Given the description of an element on the screen output the (x, y) to click on. 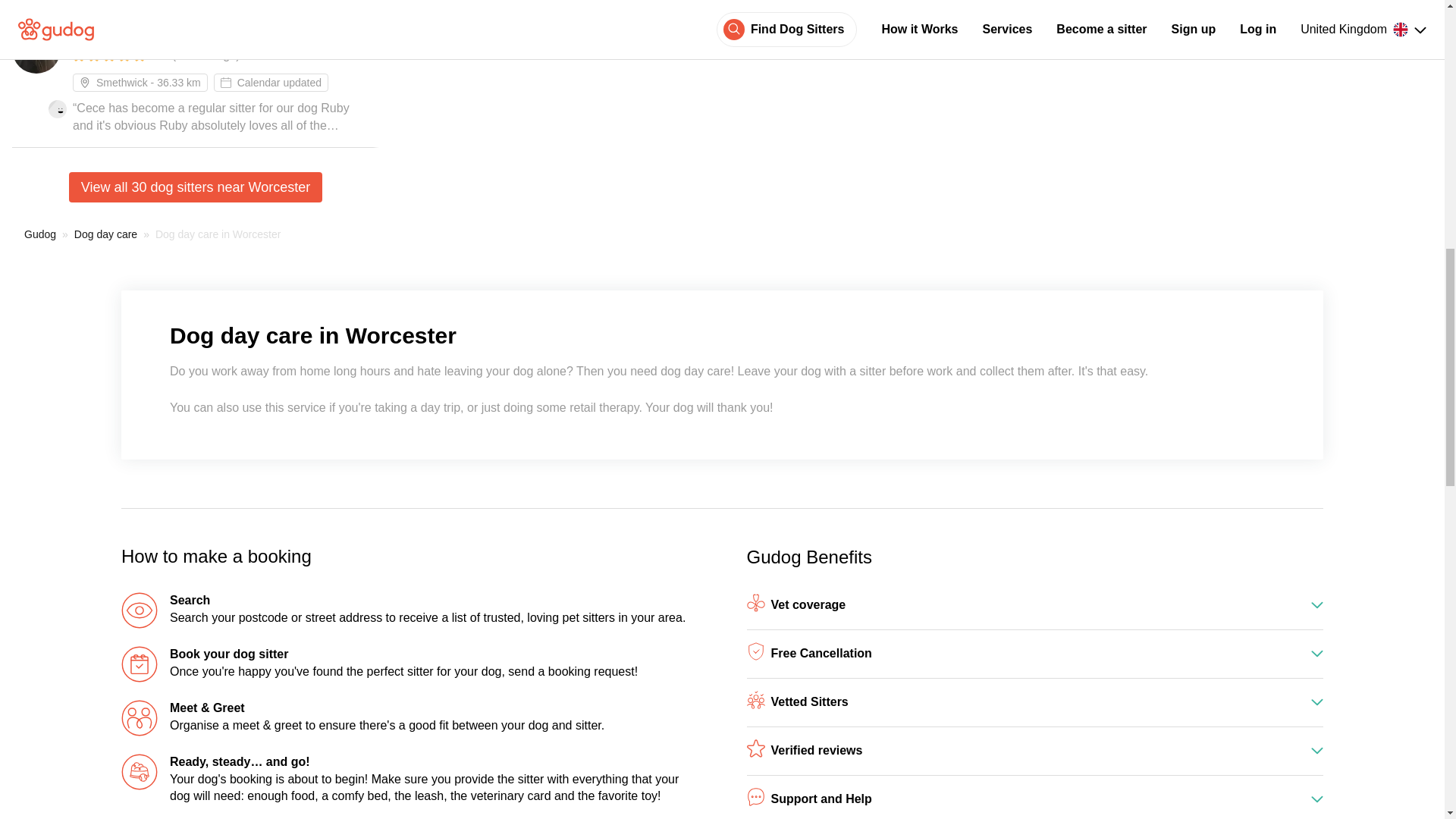
Gudog (40, 234)
Dog day care (105, 234)
View all 30 dog sitters near Worcester (194, 186)
